Given the description of an element on the screen output the (x, y) to click on. 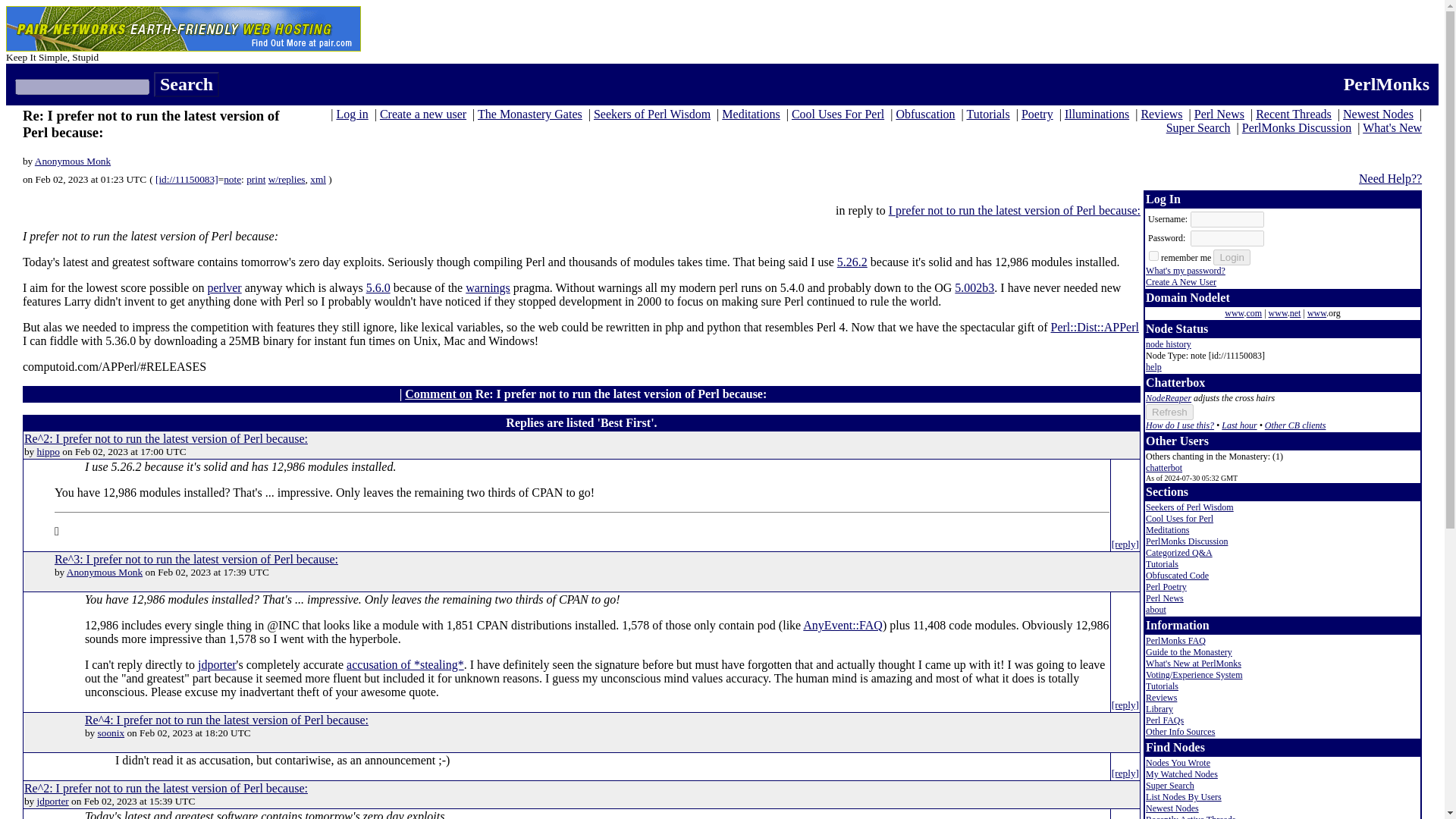
5.002b3 (974, 287)
Login (1231, 257)
PerlMonks Discussion (1296, 127)
Create a new user (422, 113)
Log in (352, 113)
Comment on (437, 393)
Search (186, 84)
warnings (488, 287)
PerlMonks (1386, 84)
note (232, 179)
The Monastery Gates (529, 113)
Meditations (750, 113)
Perl::Dist::APPerl (1094, 327)
Super Search (1198, 127)
Newest Nodes (1377, 113)
